Given the description of an element on the screen output the (x, y) to click on. 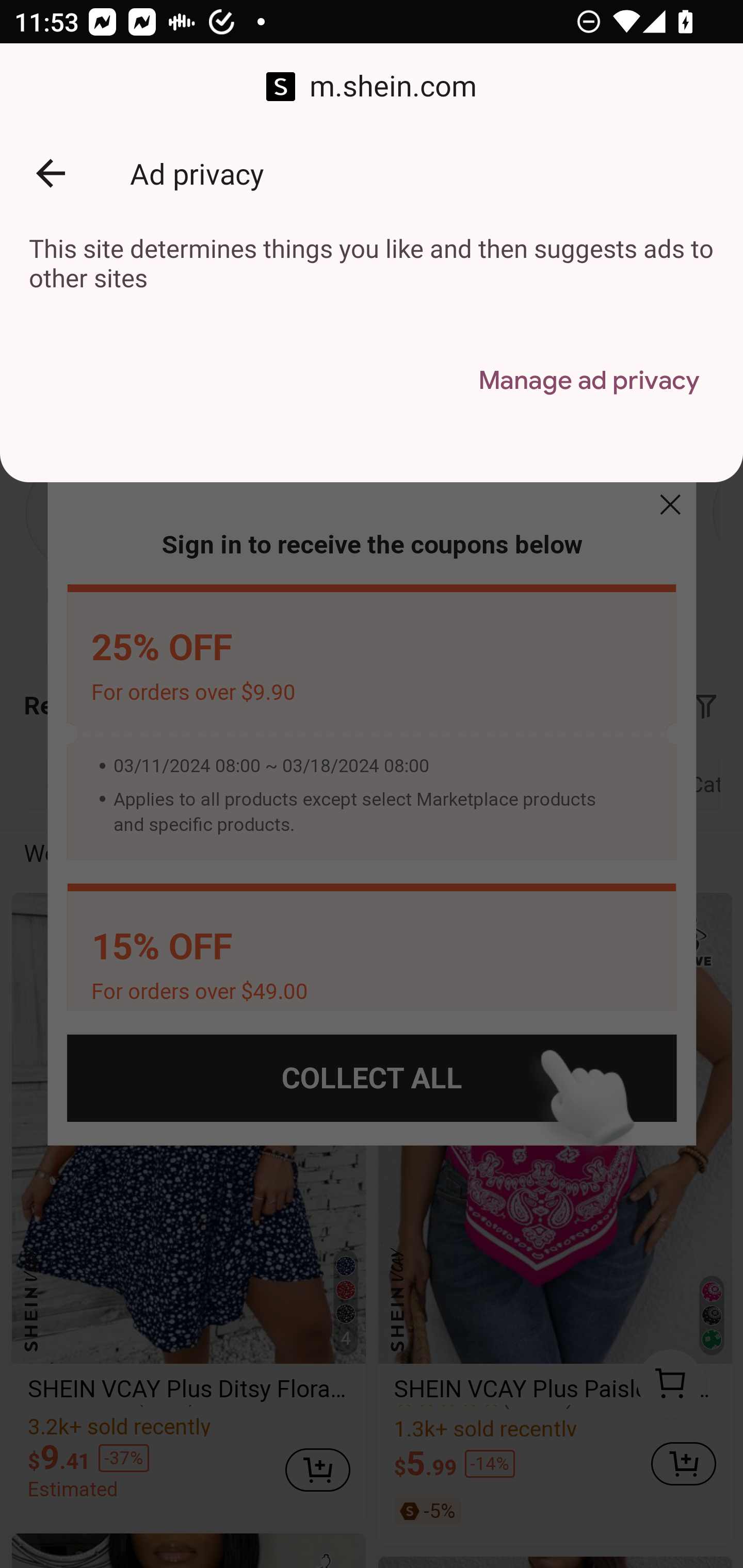
m.shein.com (371, 86)
Back (50, 173)
Manage ad privacy (588, 380)
